Given the description of an element on the screen output the (x, y) to click on. 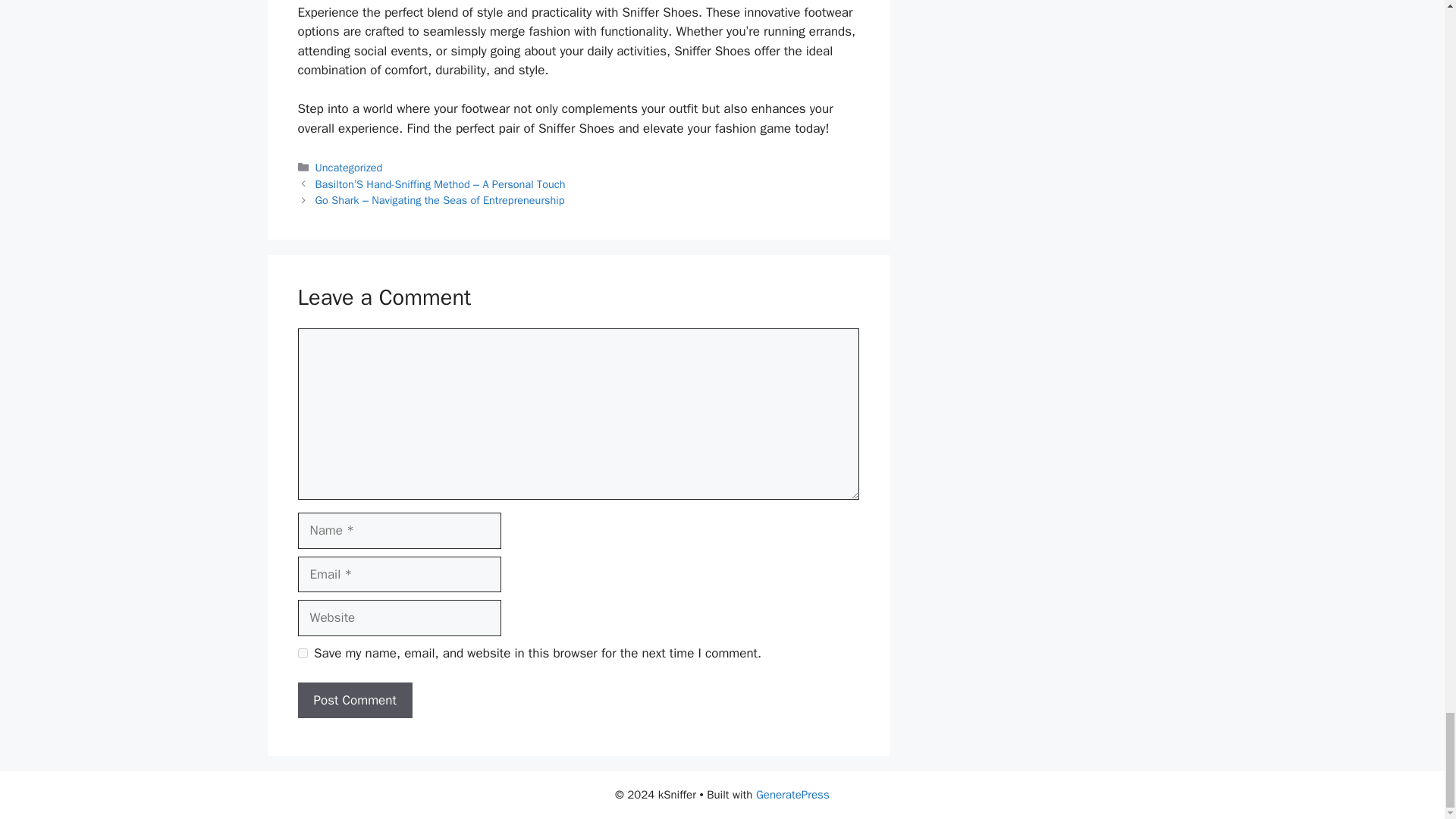
Post Comment (354, 700)
yes (302, 653)
Uncategorized (348, 167)
Post Comment (354, 700)
GeneratePress (792, 794)
